Given the description of an element on the screen output the (x, y) to click on. 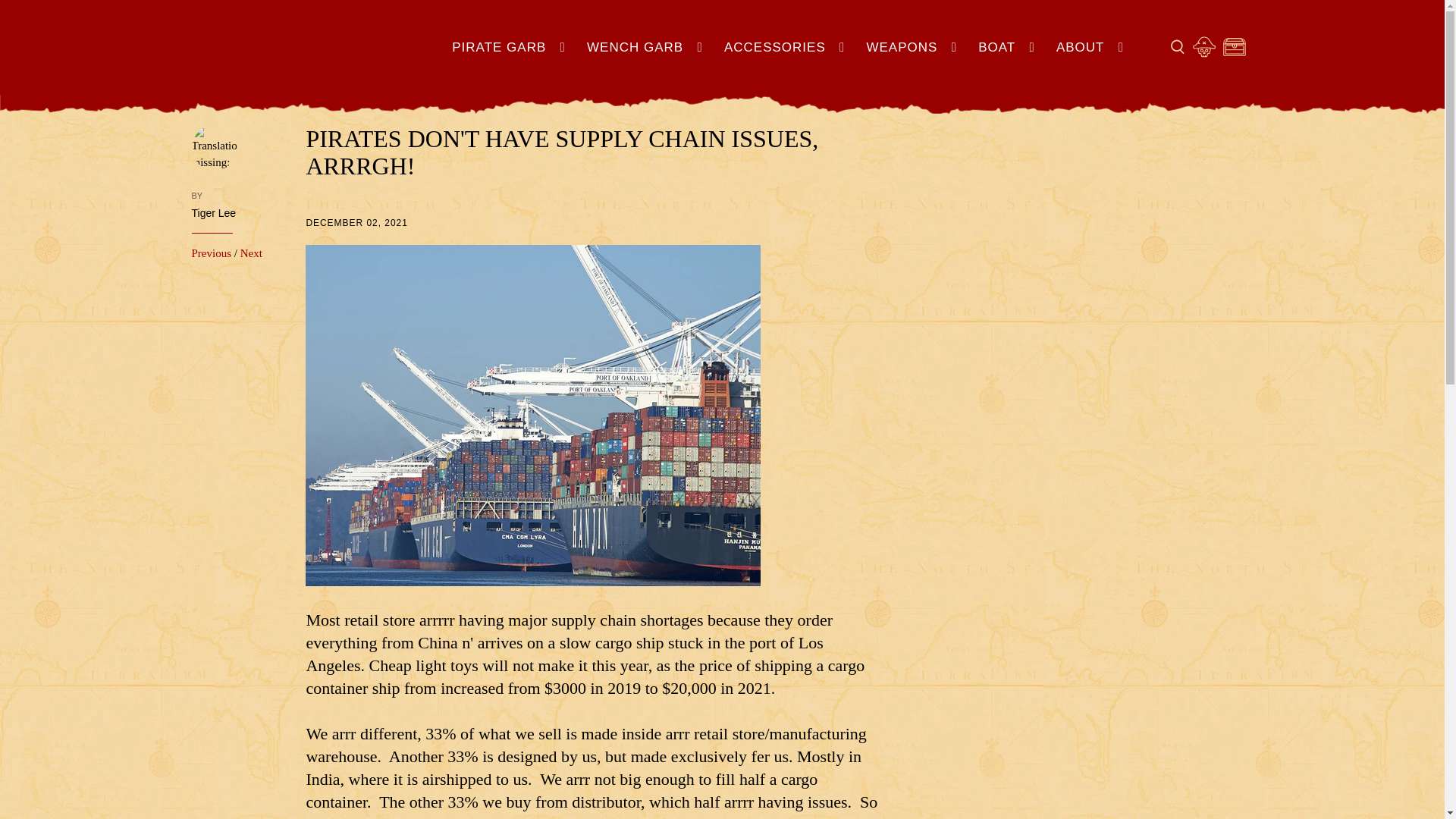
WENCH GARB (647, 47)
PIRATE GARB (511, 47)
ACCESSORIES (787, 47)
Pirate Fashions (321, 51)
